Given the description of an element on the screen output the (x, y) to click on. 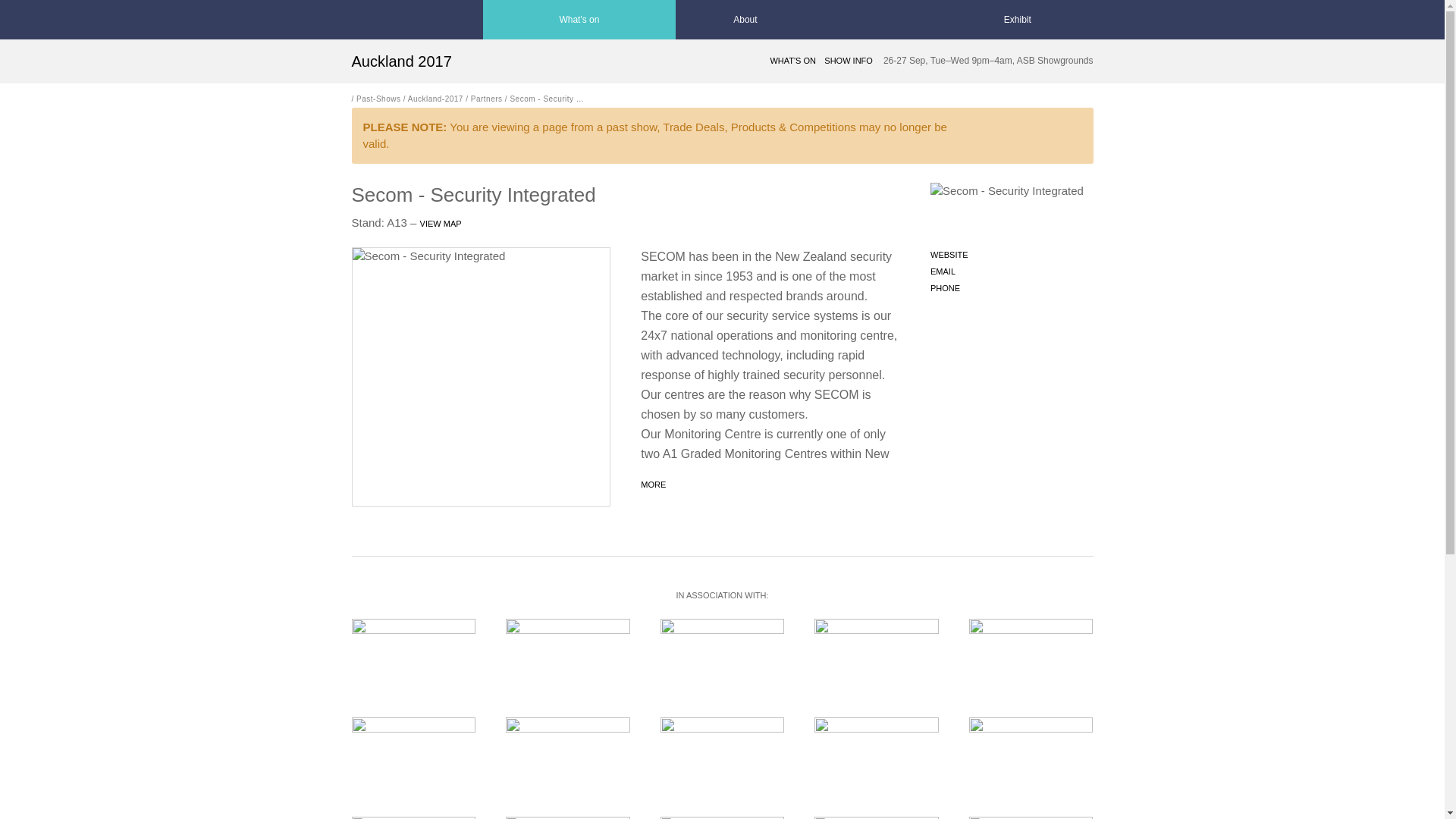
Auckland 2017 (401, 61)
SHOW INFO (848, 60)
What's on at  (579, 19)
Search  (910, 19)
Exhibitor info (1017, 19)
What's on at  (745, 19)
Partners (486, 99)
Go to  home page (386, 19)
WHAT'S ON (792, 60)
Auckland-2017 (435, 99)
